Given the description of an element on the screen output the (x, y) to click on. 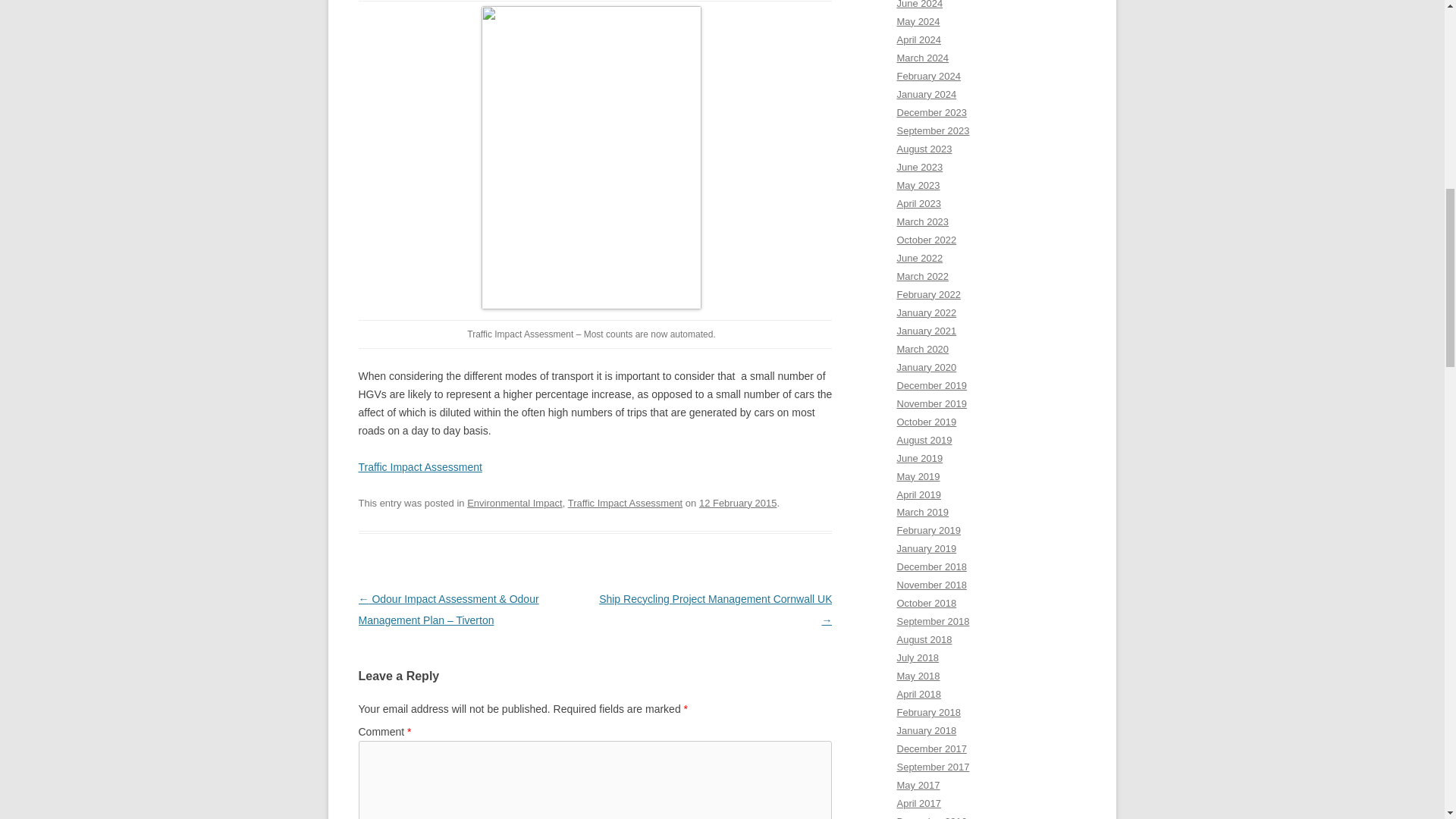
June 2024 (919, 4)
Environmental Impact (514, 502)
June 2023 (919, 166)
January 2024 (926, 93)
December 2023 (931, 112)
Traffic Impact Assessment (419, 467)
April 2024 (918, 39)
February 2024 (927, 75)
Traffic Impact Assessment (624, 502)
May 2024 (917, 21)
March 2024 (922, 57)
12 February 2015 (737, 502)
September 2023 (932, 130)
4:44 pm (737, 502)
August 2023 (924, 148)
